Given the description of an element on the screen output the (x, y) to click on. 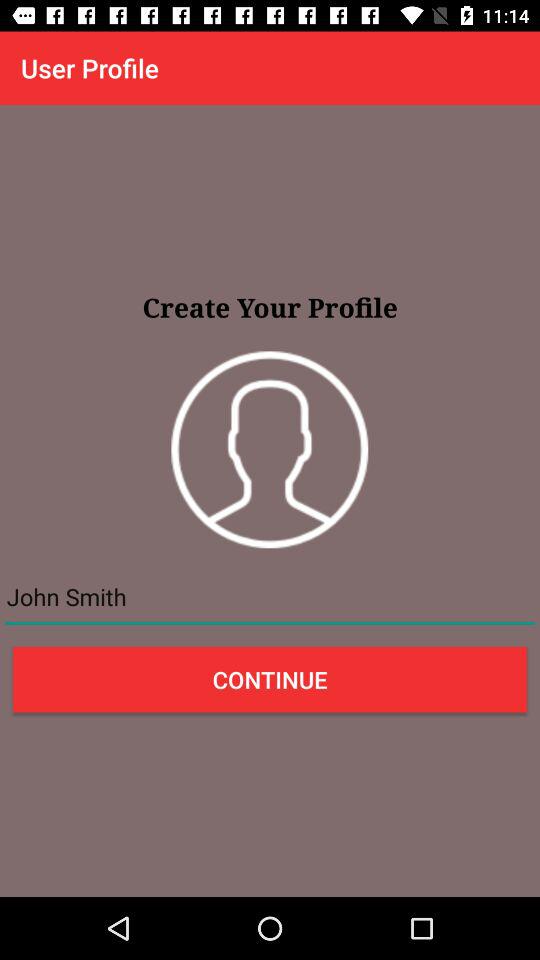
open continue icon (269, 679)
